Given the description of an element on the screen output the (x, y) to click on. 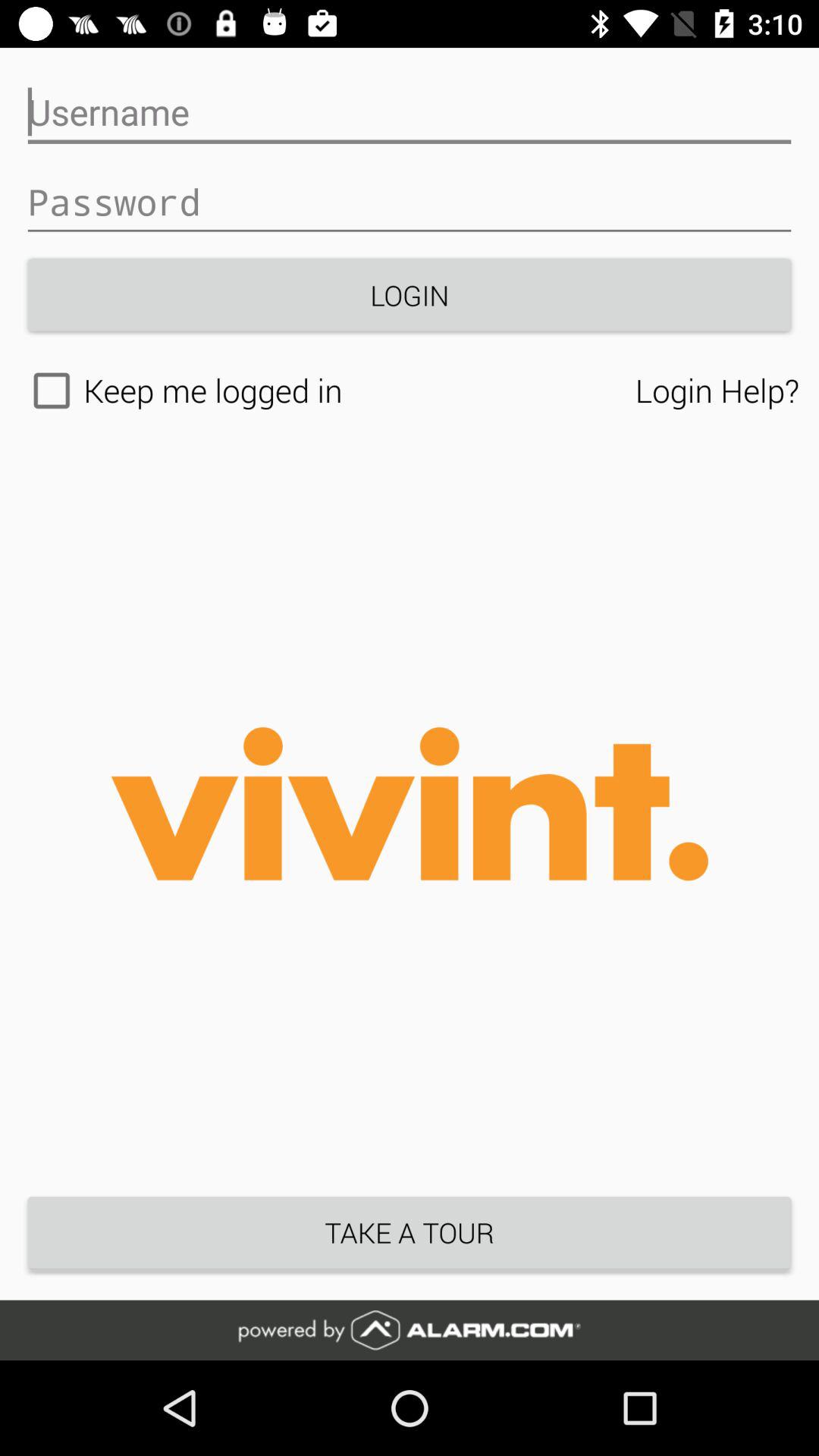
press the login help? item (717, 390)
